Given the description of an element on the screen output the (x, y) to click on. 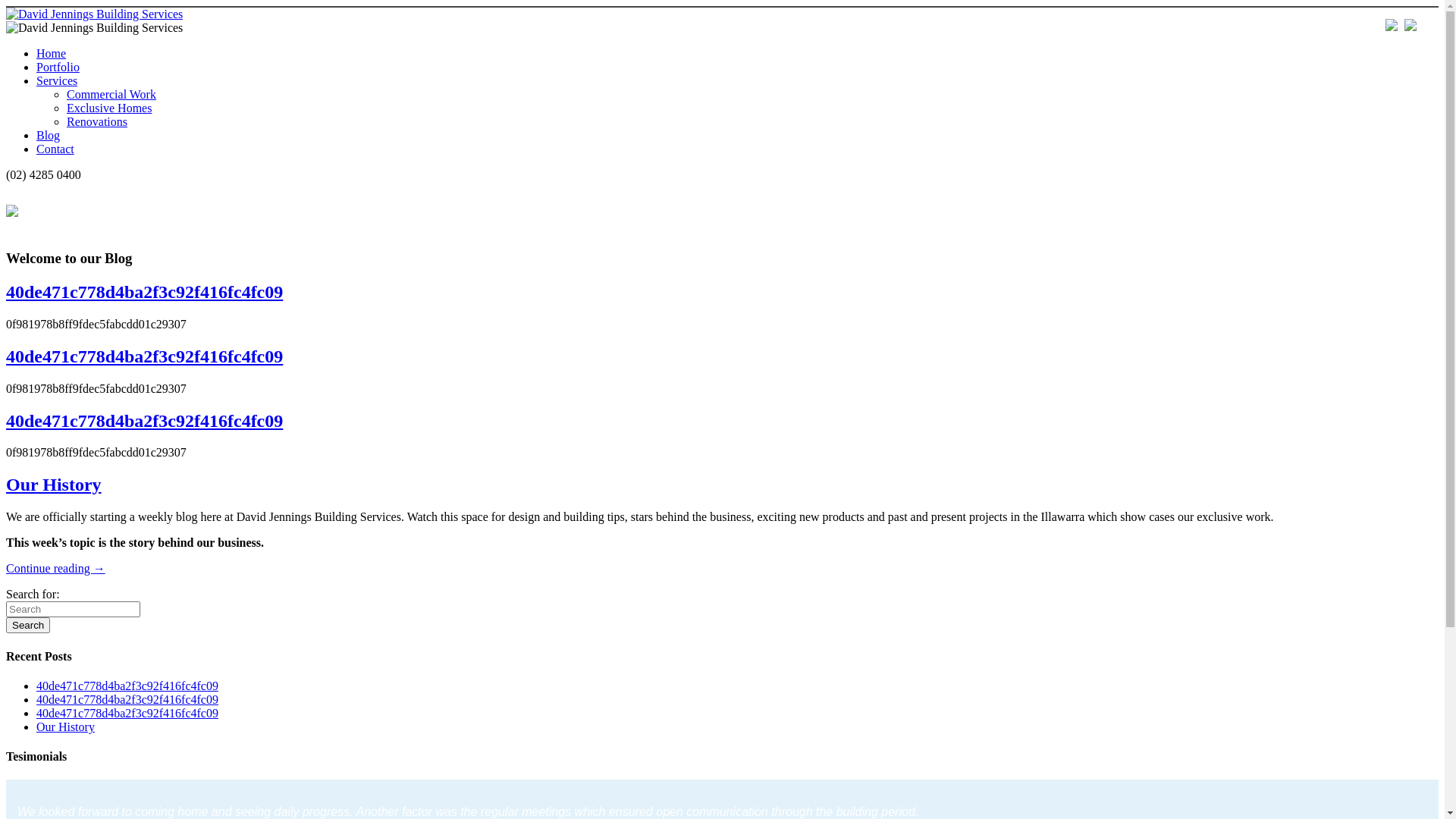
Blog Element type: text (47, 134)
Search Element type: text (28, 625)
Contact Element type: text (55, 148)
Our History Element type: text (53, 484)
40de471c778d4ba2f3c92f416fc4fc09 Element type: text (144, 291)
40de471c778d4ba2f3c92f416fc4fc09 Element type: text (144, 420)
Home Element type: text (50, 53)
Services Element type: text (56, 80)
Our History Element type: text (65, 726)
40de471c778d4ba2f3c92f416fc4fc09 Element type: text (144, 356)
40de471c778d4ba2f3c92f416fc4fc09 Element type: text (127, 699)
40de471c778d4ba2f3c92f416fc4fc09 Element type: text (127, 685)
Exclusive Homes Element type: text (108, 107)
40de471c778d4ba2f3c92f416fc4fc09 Element type: text (127, 712)
Commercial Work Element type: text (111, 93)
Portfolio Element type: text (57, 66)
Renovations Element type: text (96, 121)
